Given the description of an element on the screen output the (x, y) to click on. 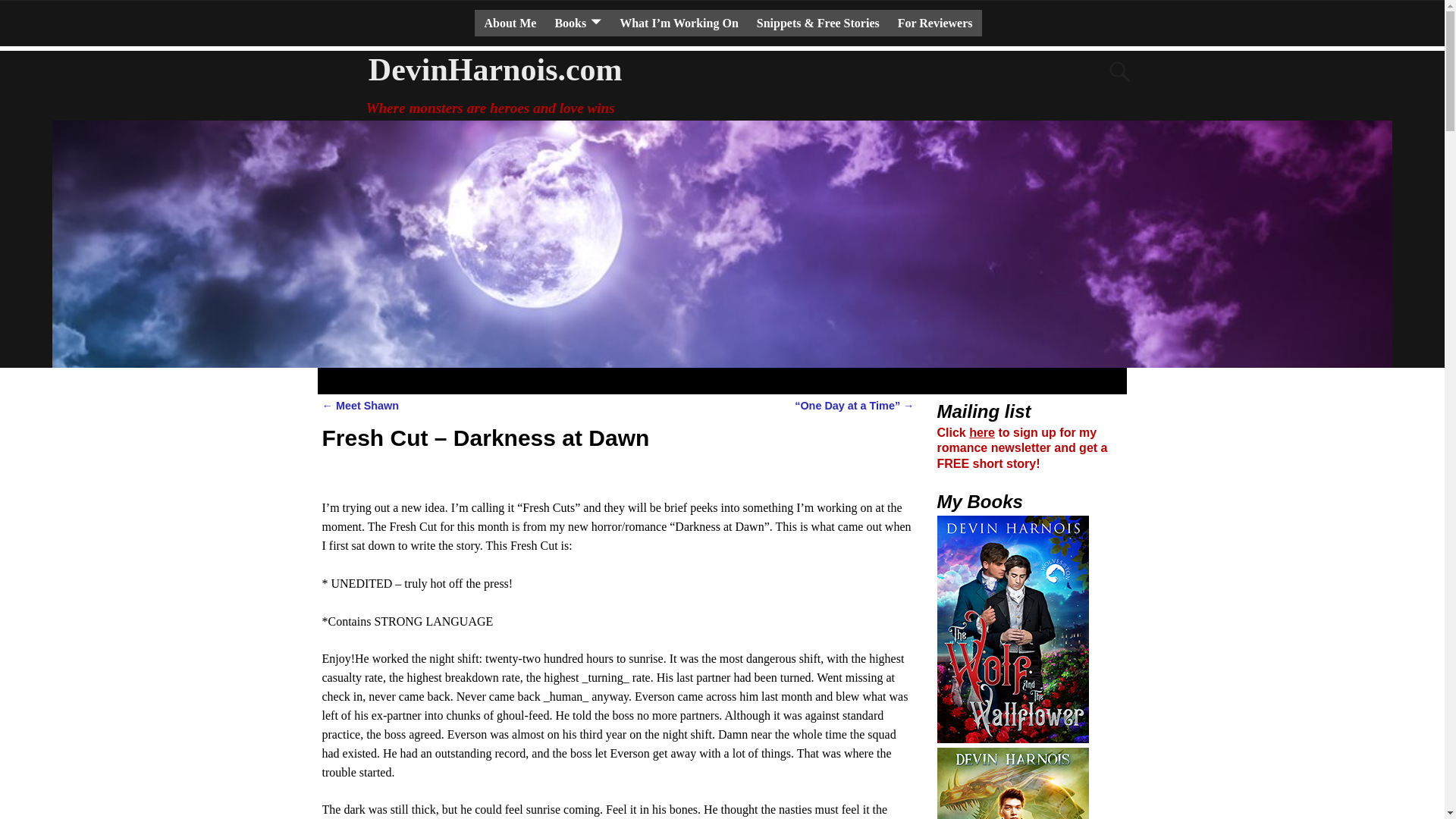
Books (577, 22)
DevinHarnois.com (495, 69)
About Me (509, 22)
DevinHarnois.com (495, 69)
For Reviewers (934, 22)
